Given the description of an element on the screen output the (x, y) to click on. 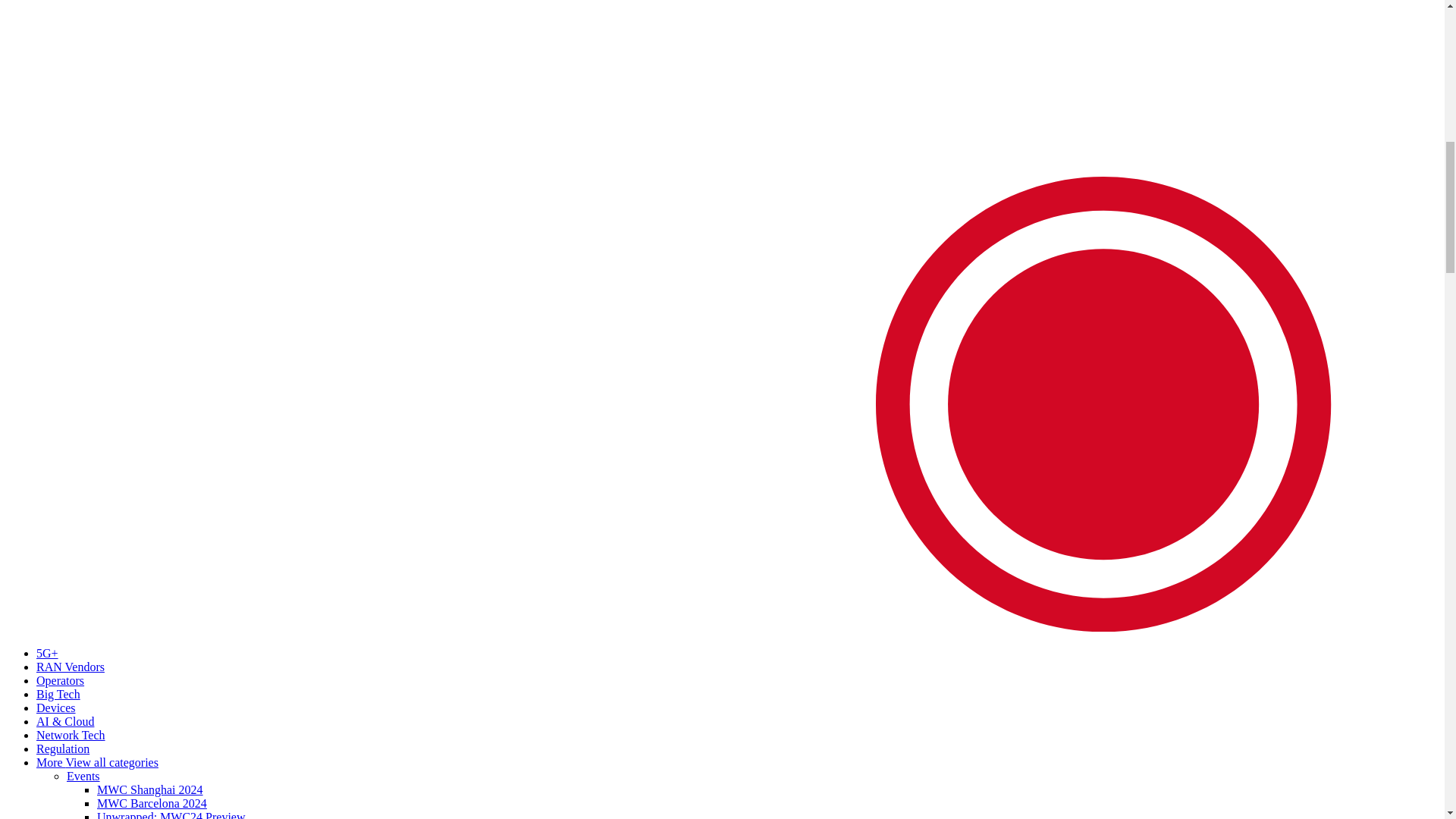
Operators (60, 680)
Unwrapped: MWC24 Preview (171, 814)
Regulation (62, 748)
Devices (55, 707)
Network Tech (70, 735)
More View all categories (97, 762)
RAN Vendors (70, 666)
Big Tech (58, 694)
MWC Shanghai 2024 (150, 789)
Events (83, 775)
MWC Barcelona 2024 (151, 802)
